Given the description of an element on the screen output the (x, y) to click on. 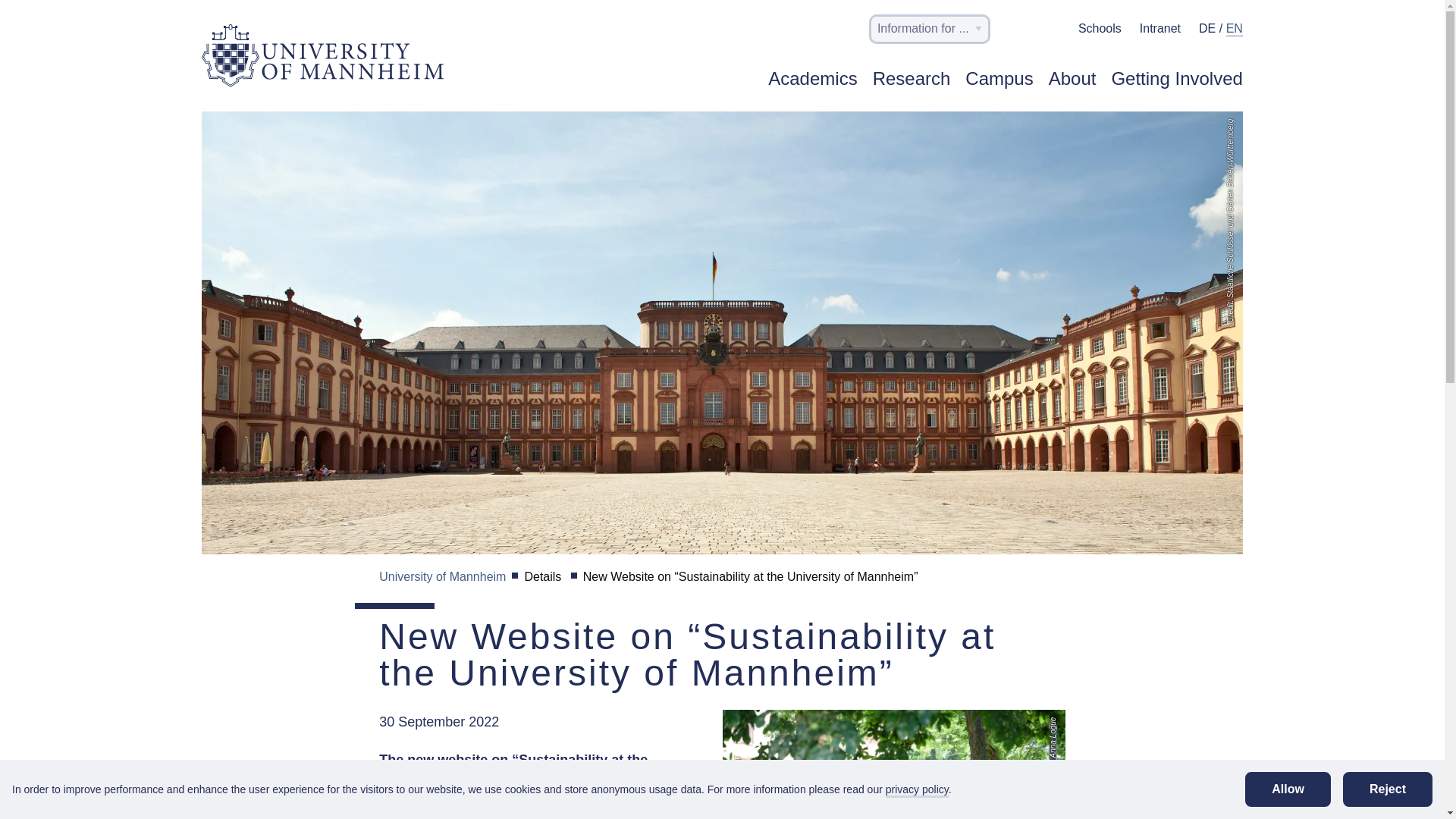
DE (1206, 29)
Intranet (1160, 28)
Schools (1099, 28)
Academics (812, 86)
EN (1234, 29)
Search (1016, 28)
Accessibility (1050, 27)
Accessibility (1050, 31)
Search (1016, 31)
